Given the description of an element on the screen output the (x, y) to click on. 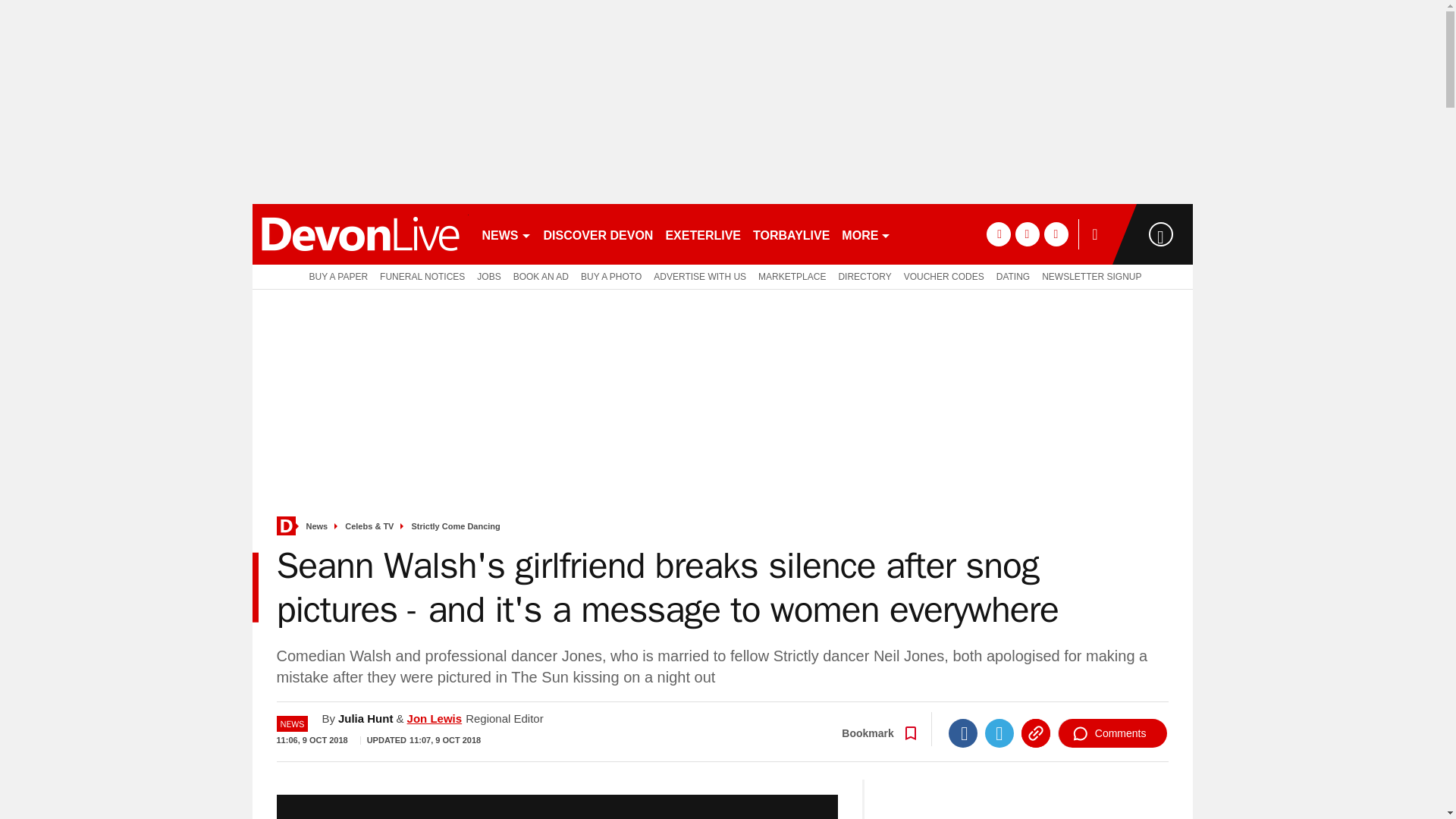
Facebook (962, 733)
facebook (997, 233)
DISCOVER DEVON (598, 233)
NEWS (506, 233)
instagram (1055, 233)
Comments (1112, 733)
TORBAYLIVE (790, 233)
devonlive (359, 233)
twitter (1026, 233)
Twitter (999, 733)
